Given the description of an element on the screen output the (x, y) to click on. 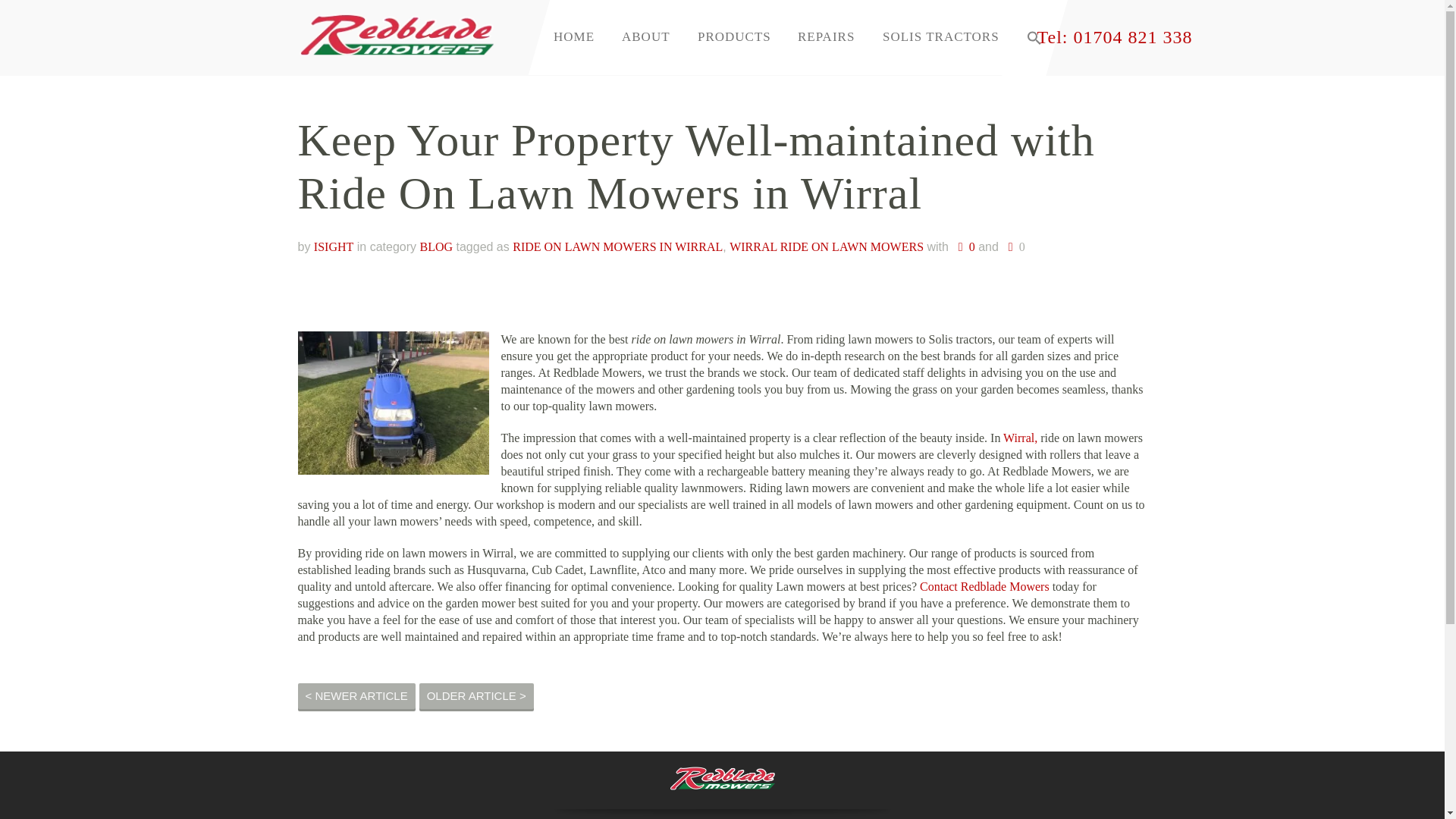
Redblade Mowers (396, 28)
BLOG (435, 246)
Like (1013, 247)
Wirral, (1019, 437)
REPAIRS (825, 37)
WIRRAL RIDE ON LAWN MOWERS (826, 246)
01704 821 338 (1133, 36)
0 (1013, 247)
PRODUCTS (734, 37)
HOME (574, 37)
Posts by isight (333, 246)
RIDE ON LAWN MOWERS IN WIRRAL (617, 246)
0 (963, 246)
Contact Redblade Mowers (983, 585)
ABOUT (646, 37)
